Given the description of an element on the screen output the (x, y) to click on. 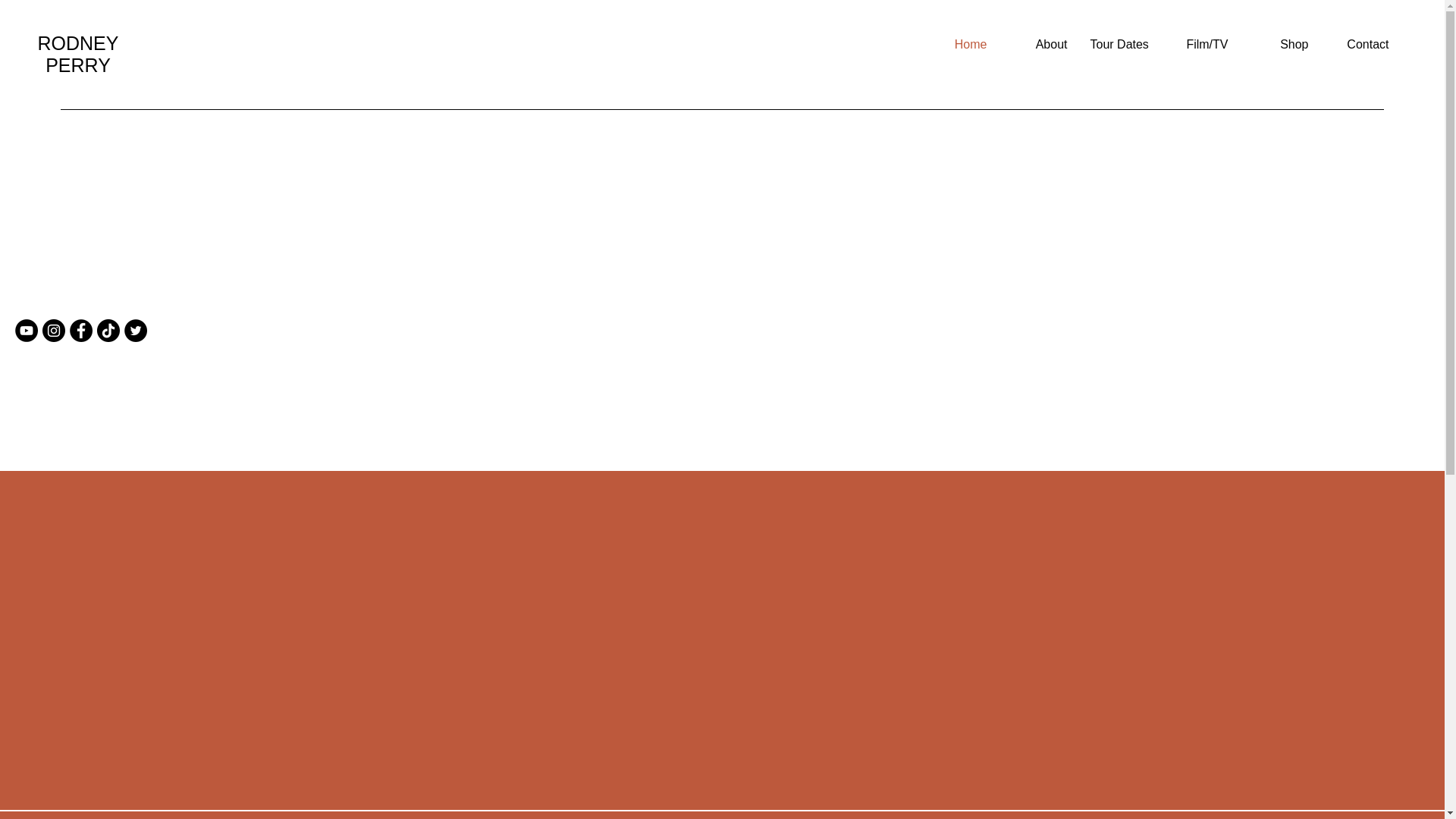
Shop (1279, 44)
Contact (1359, 44)
RODNEY PERRY (78, 54)
Tour Dates (1118, 44)
Home (957, 44)
About (1037, 44)
